Given the description of an element on the screen output the (x, y) to click on. 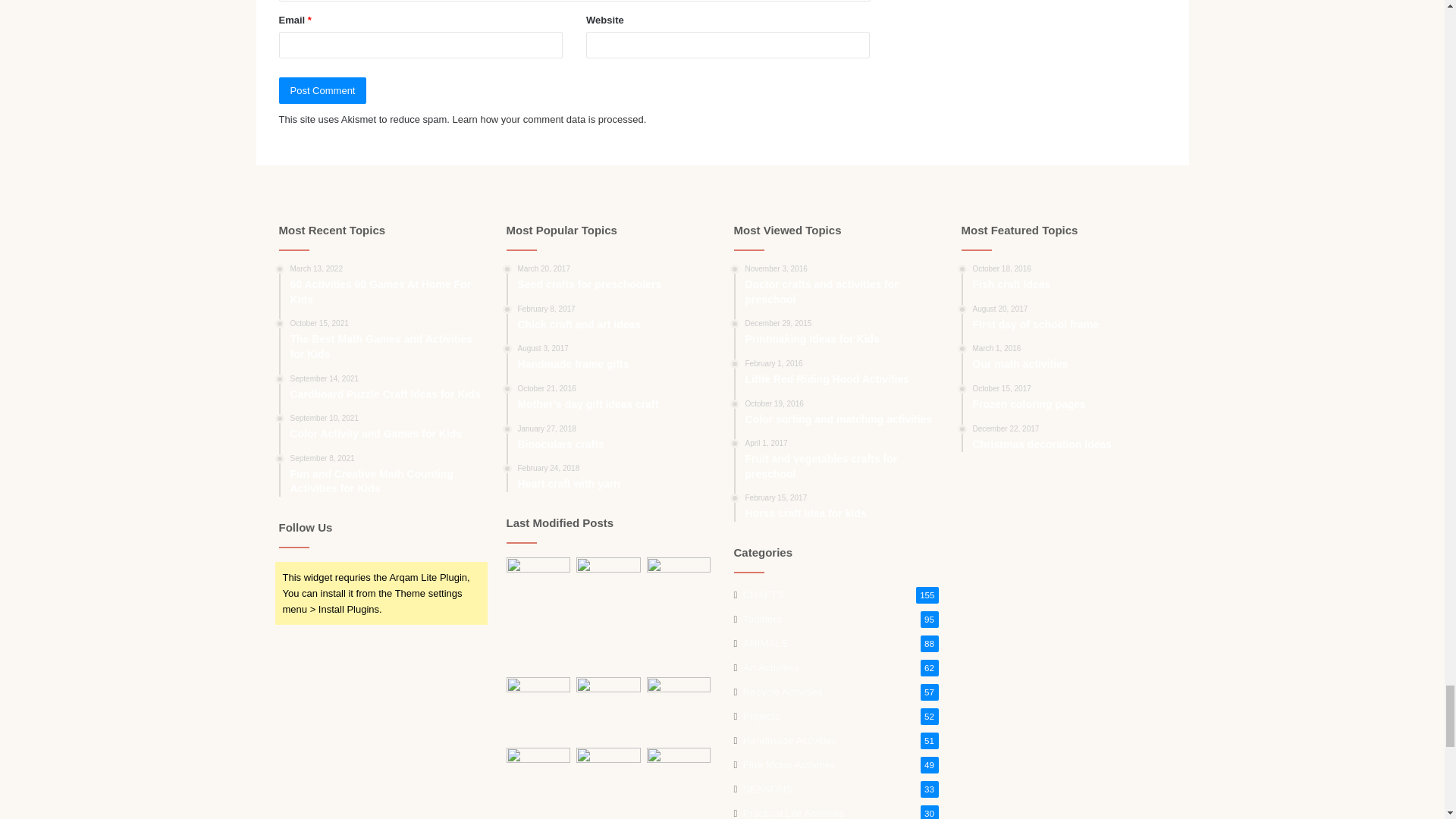
Post Comment (322, 90)
